Given the description of an element on the screen output the (x, y) to click on. 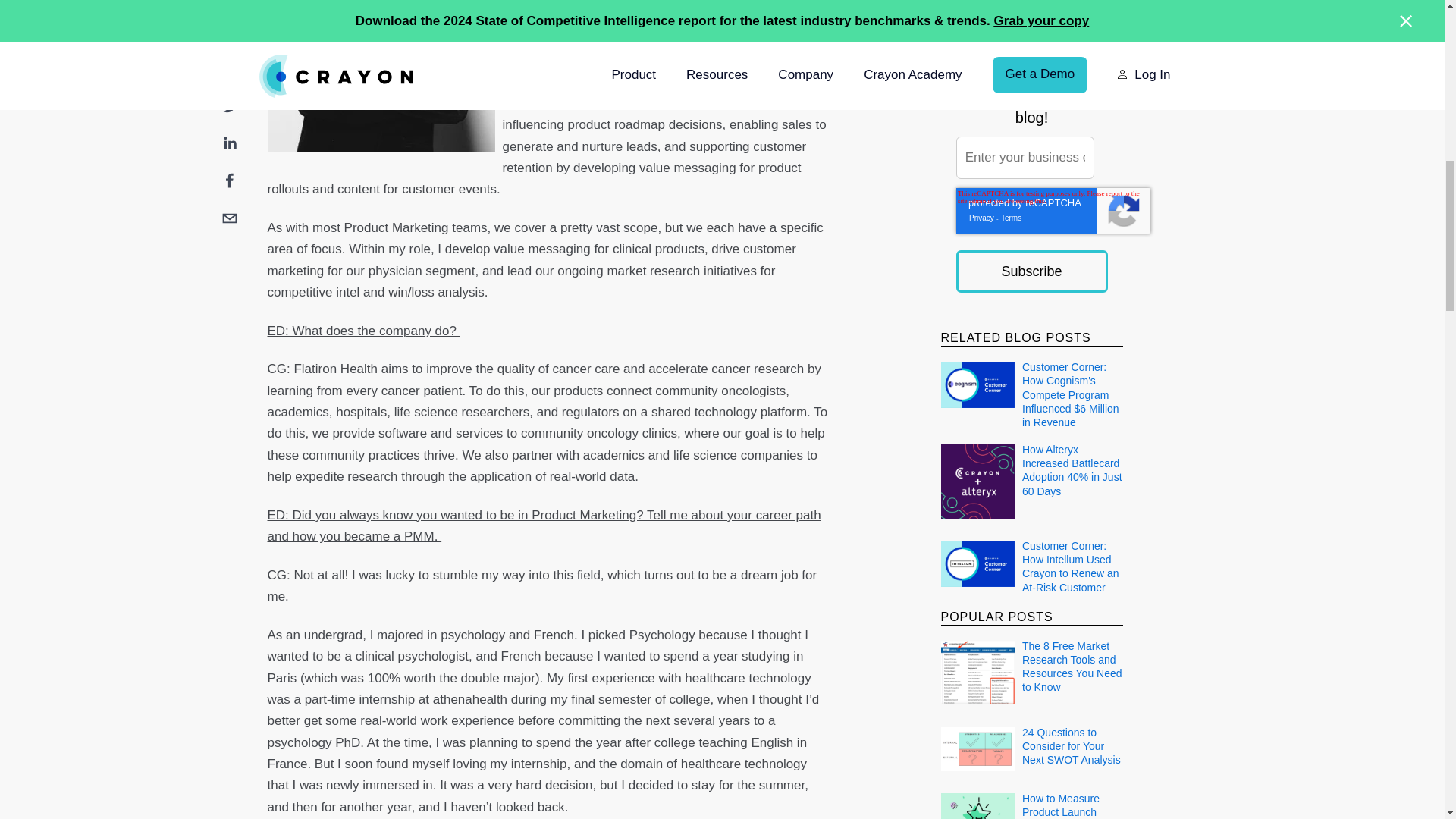
Subscribe (1030, 271)
Subscribe (1030, 271)
reCAPTCHA (1052, 210)
